Given the description of an element on the screen output the (x, y) to click on. 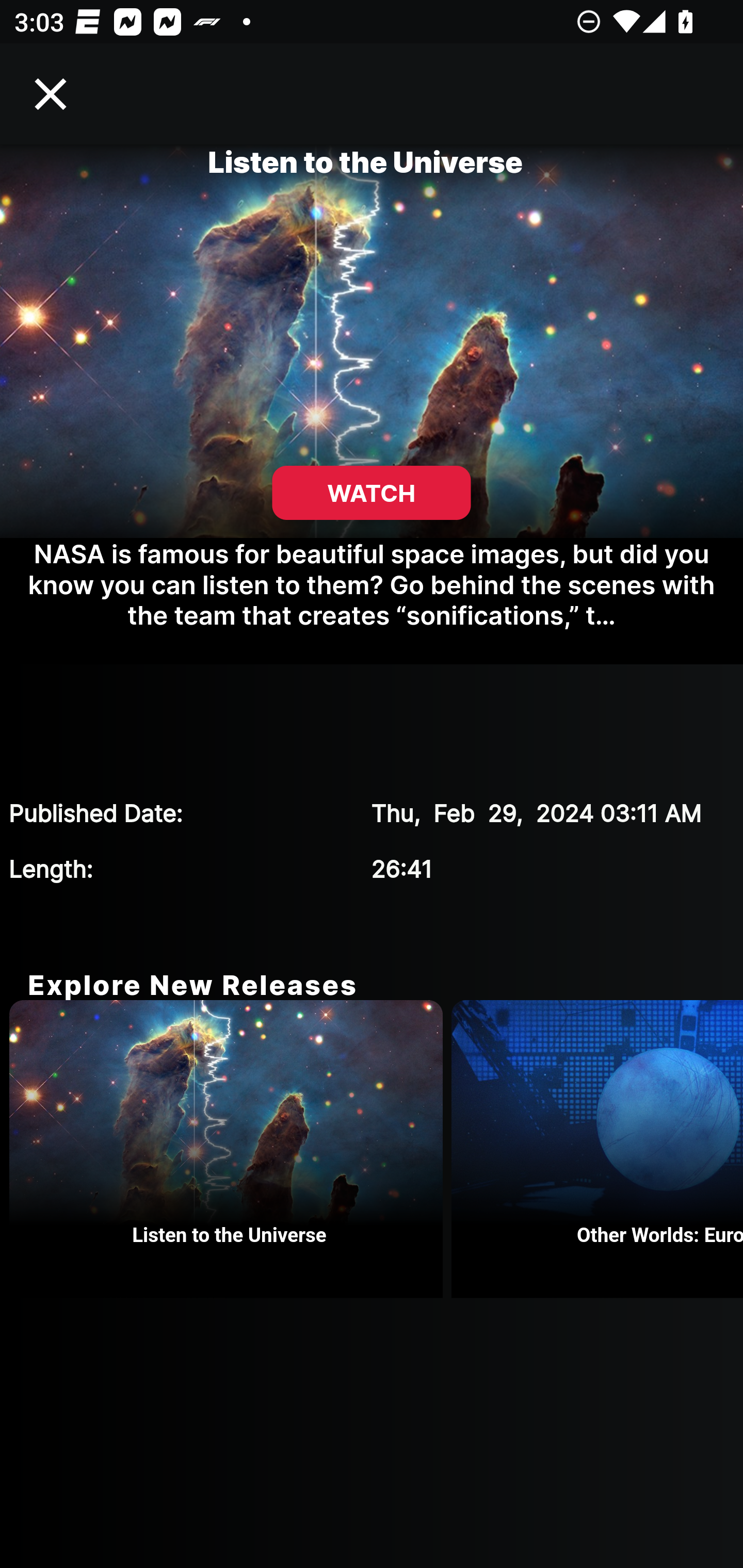
WATCH (371, 492)
Listen to the Universe (229, 1149)
Other Worlds: Europa (597, 1149)
